Given the description of an element on the screen output the (x, y) to click on. 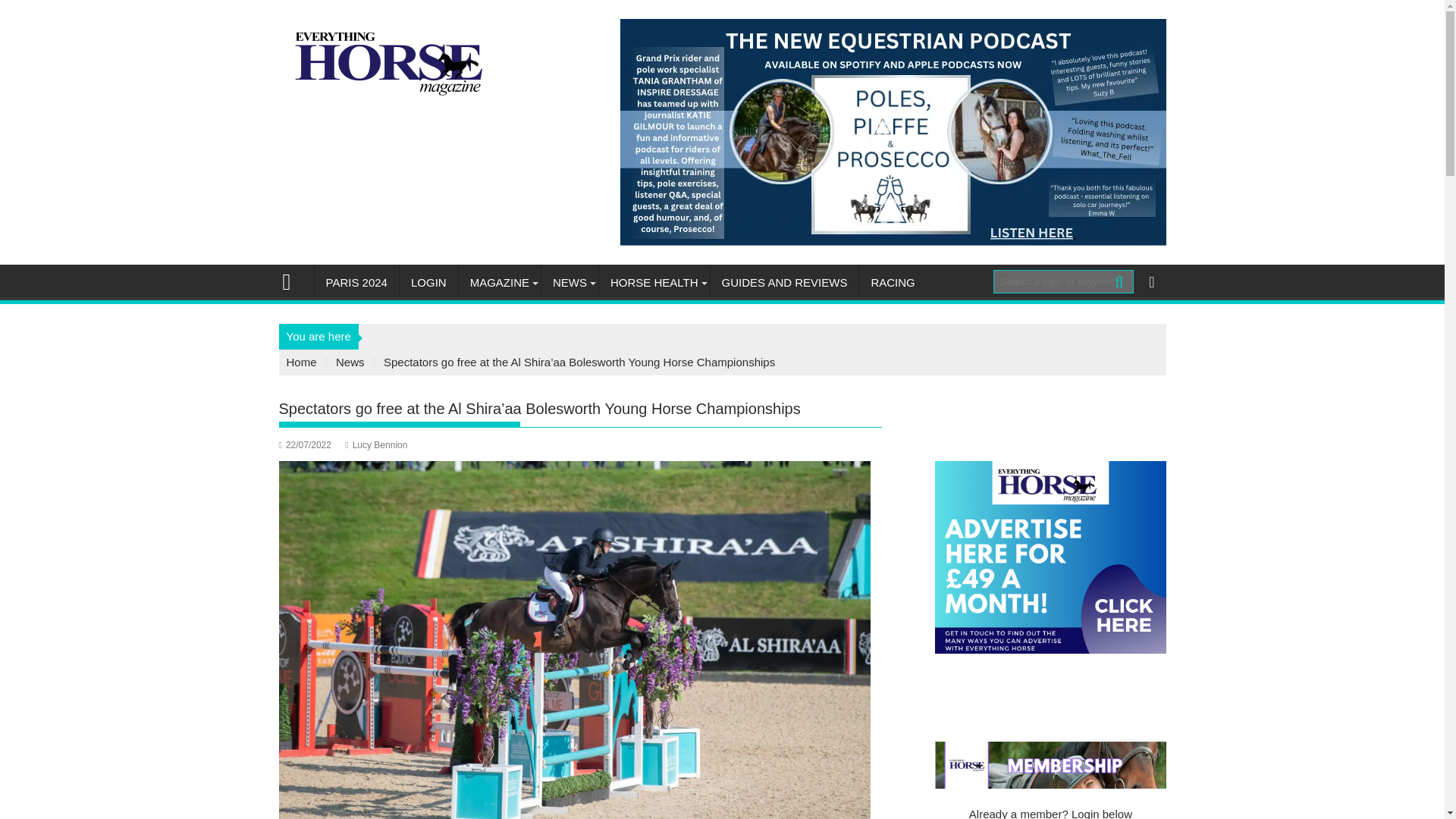
MAGAZINE (499, 282)
GUIDES AND REVIEWS (784, 282)
Everything Horse Magazine (293, 280)
PARIS 2024 (355, 282)
HORSE HEALTH (654, 282)
LOGIN (428, 282)
RACING (892, 282)
NEWS (569, 282)
